Given the description of an element on the screen output the (x, y) to click on. 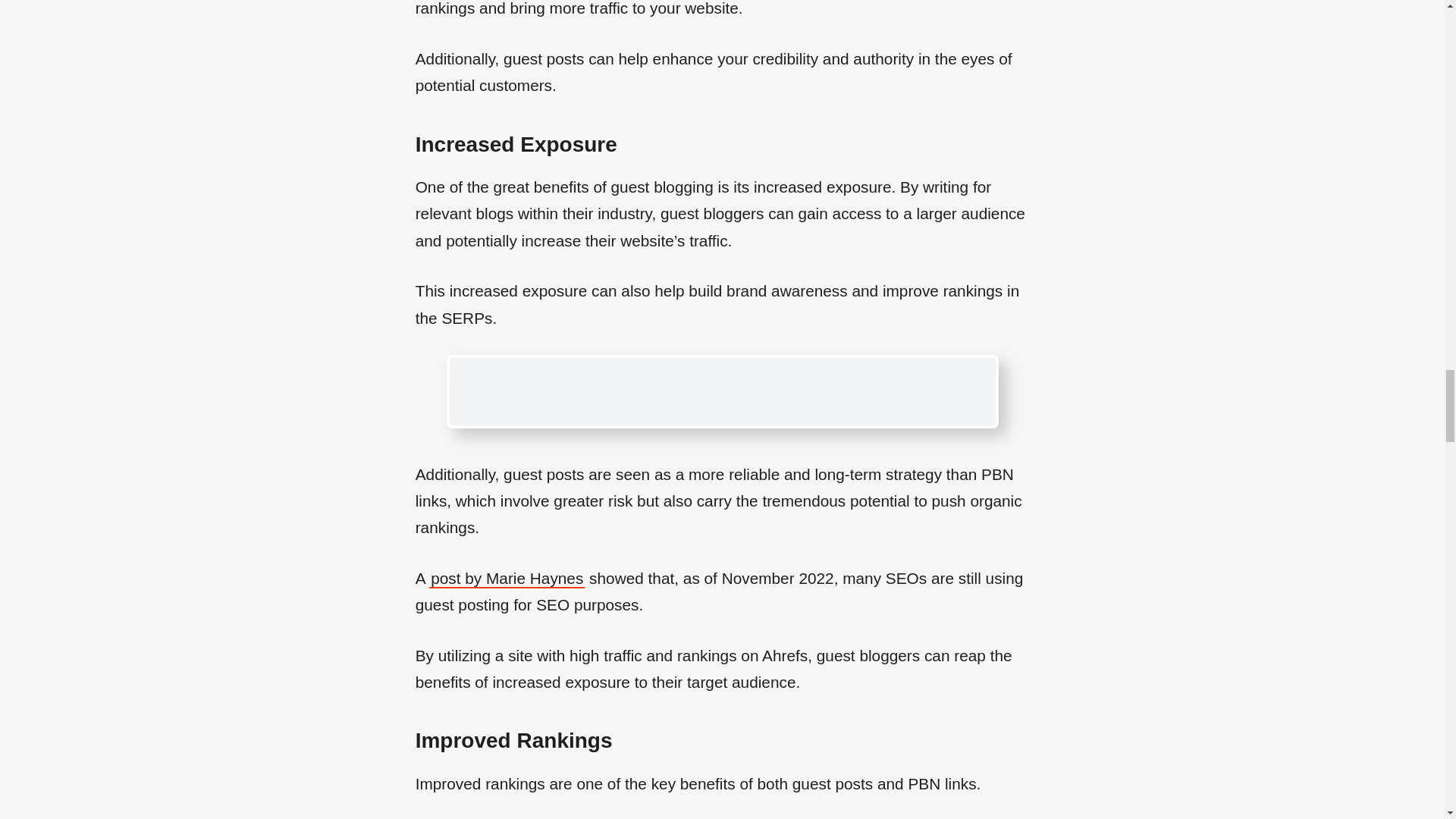
post by Marie Haynes (507, 578)
